Given the description of an element on the screen output the (x, y) to click on. 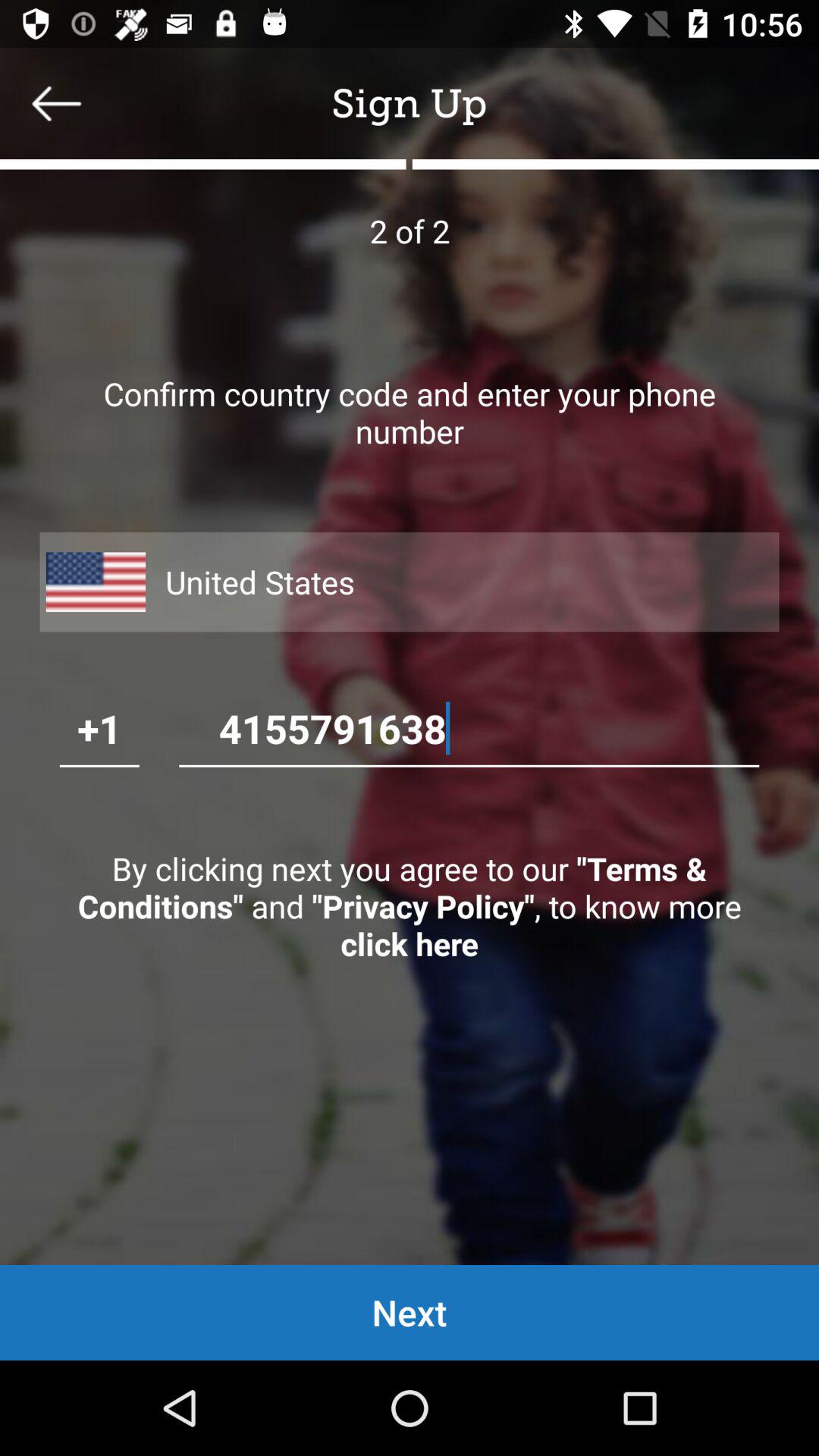
go back (56, 103)
